Given the description of an element on the screen output the (x, y) to click on. 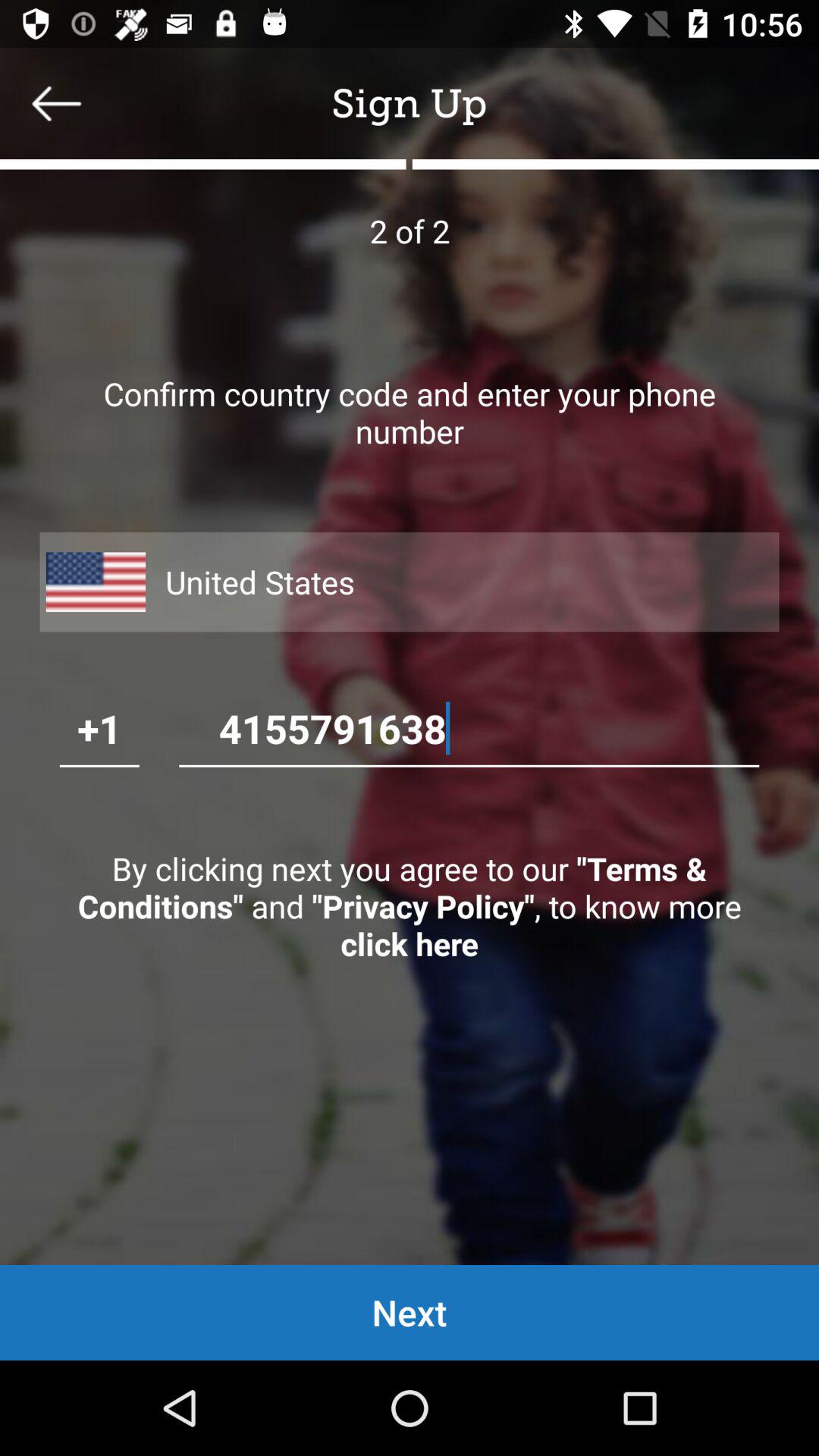
go back (56, 103)
